Given the description of an element on the screen output the (x, y) to click on. 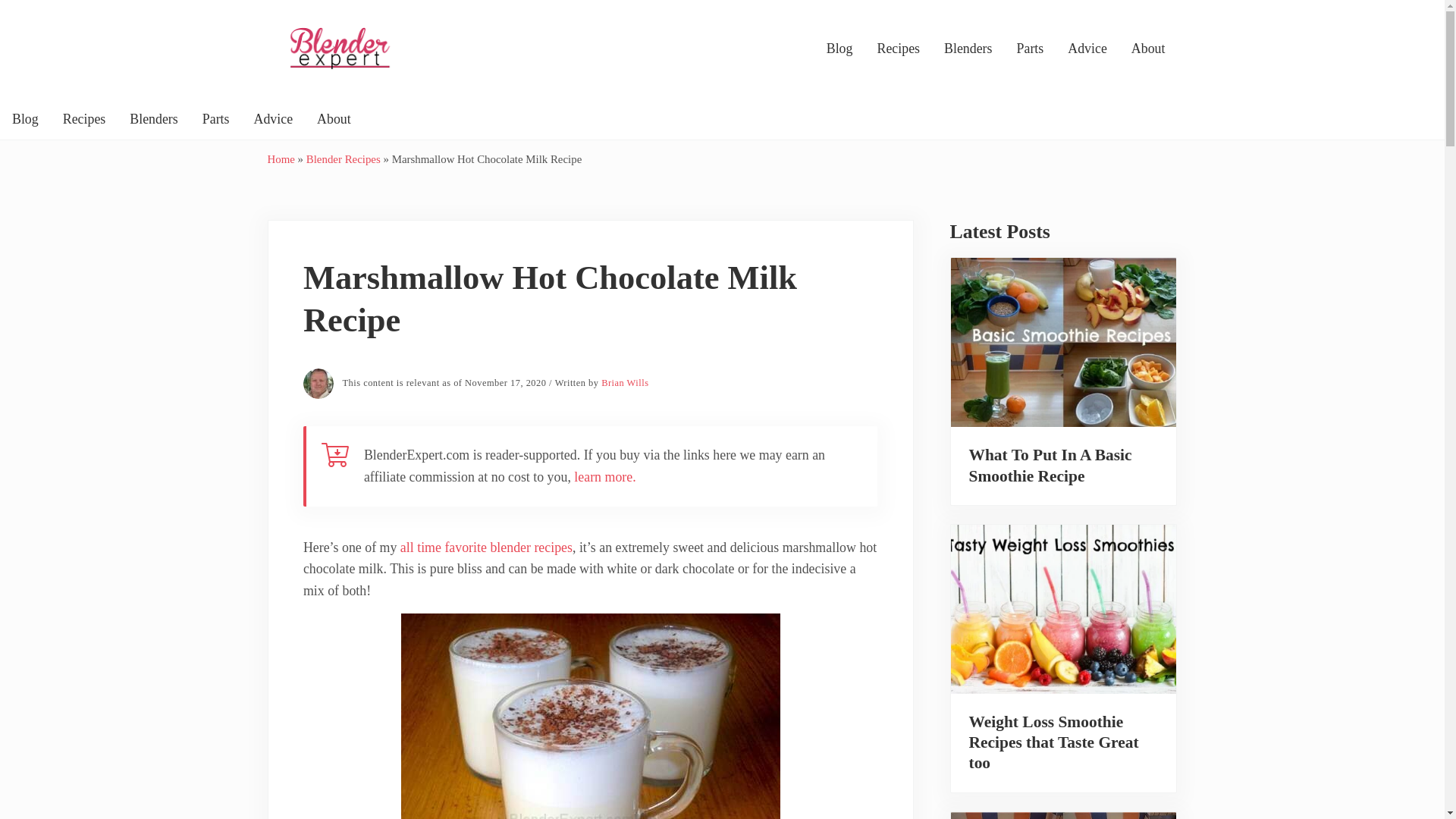
Marshmallow Hot Chocolate Milk (589, 716)
Brian Wills (624, 382)
Advice (273, 119)
Blog (25, 119)
Parts (215, 119)
Blender Recipes (342, 159)
About (1148, 48)
all time favorite blender recipes (486, 547)
Parts (1030, 48)
About (333, 119)
Blenders (153, 119)
Recipes (897, 48)
Recipes (83, 119)
Blenders (967, 48)
